Given the description of an element on the screen output the (x, y) to click on. 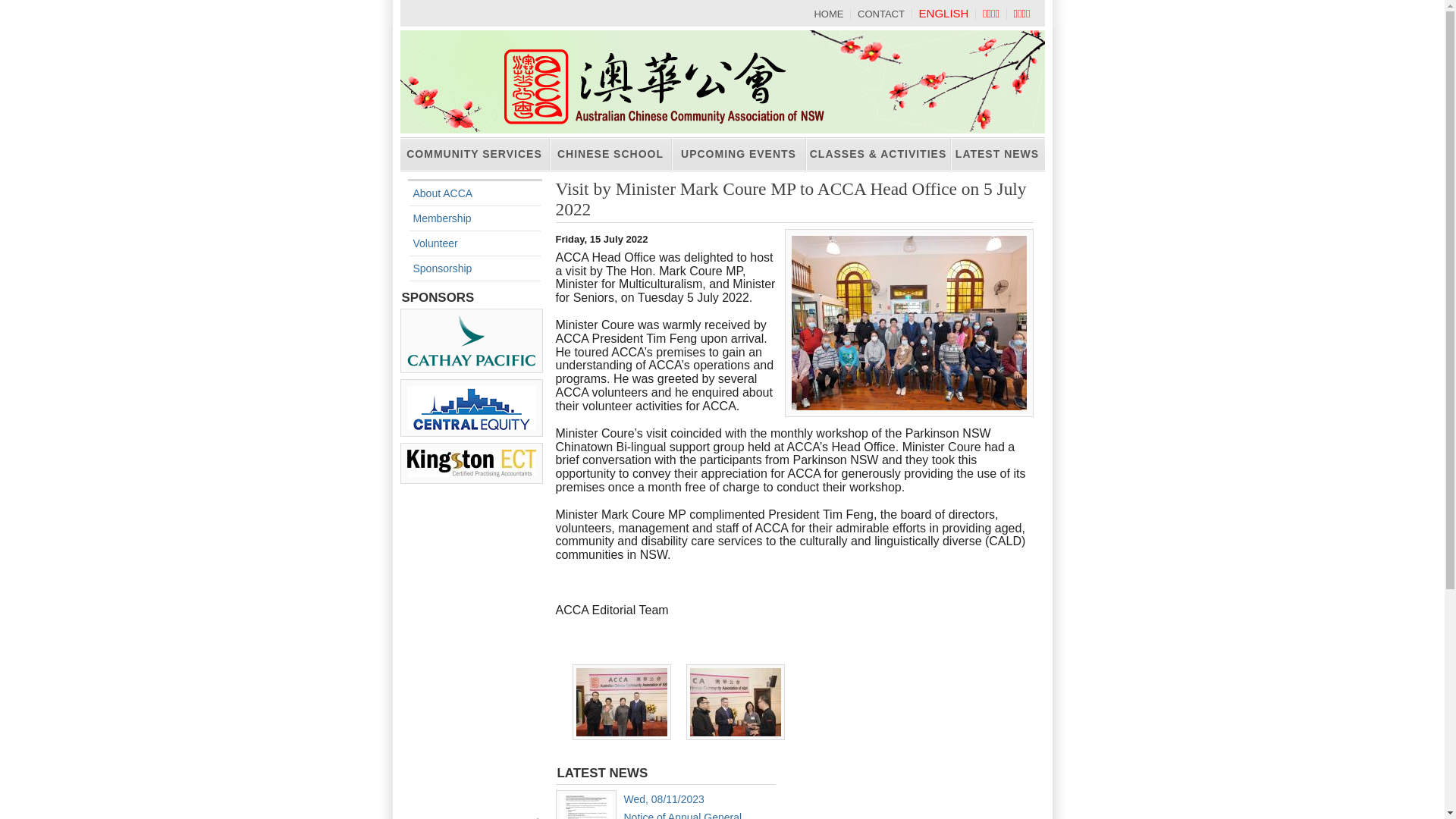
Sponsorship Element type: text (441, 268)
UPCOMING EVENTS Element type: text (738, 154)
CLASSES & ACTIVITIES Element type: text (877, 154)
HOME Element type: text (828, 13)
LATEST NEWS Element type: text (996, 154)
Wed, 08/11/2023 Element type: text (663, 799)
COMMUNITY SERVICES Element type: text (474, 154)
ENGLISH Element type: text (944, 12)
Membership Element type: text (441, 218)
CHINESE SCHOOL Element type: text (610, 154)
Volunteer Element type: text (434, 243)
CONTACT Element type: text (880, 13)
About ACCA Element type: text (442, 193)
